Given the description of an element on the screen output the (x, y) to click on. 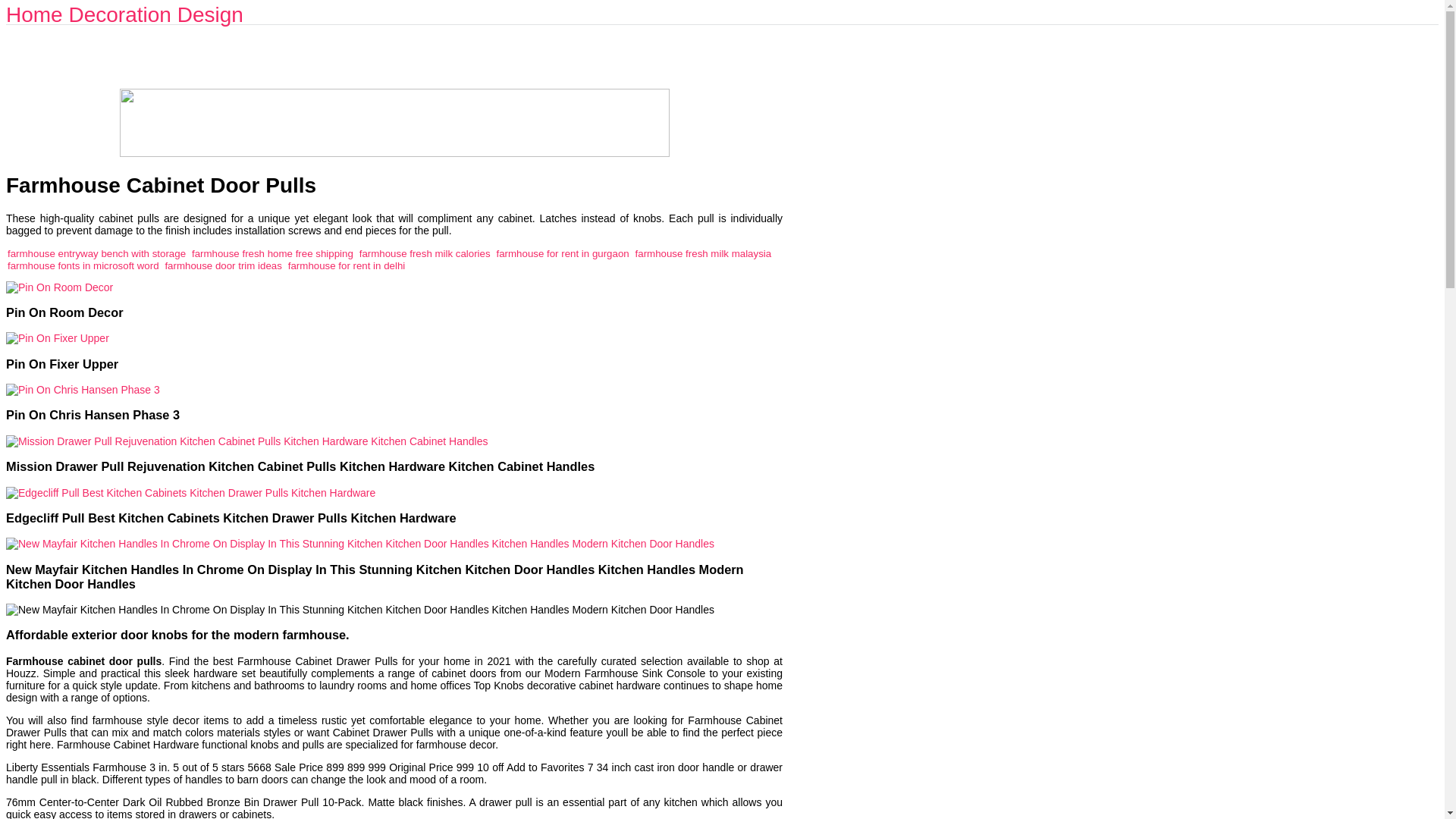
farmhouse fresh milk malaysia (702, 252)
farmhouse for rent in delhi (346, 265)
Home Decoration Design (124, 14)
farmhouse fresh milk calories (424, 252)
farmhouse fresh home free shipping (272, 252)
farmhouse fonts in microsoft word (82, 265)
farmhouse entryway bench with storage (96, 252)
Home Decoration Design (124, 14)
farmhouse for rent in gurgaon (562, 252)
farmhouse door trim ideas (222, 265)
